Given the description of an element on the screen output the (x, y) to click on. 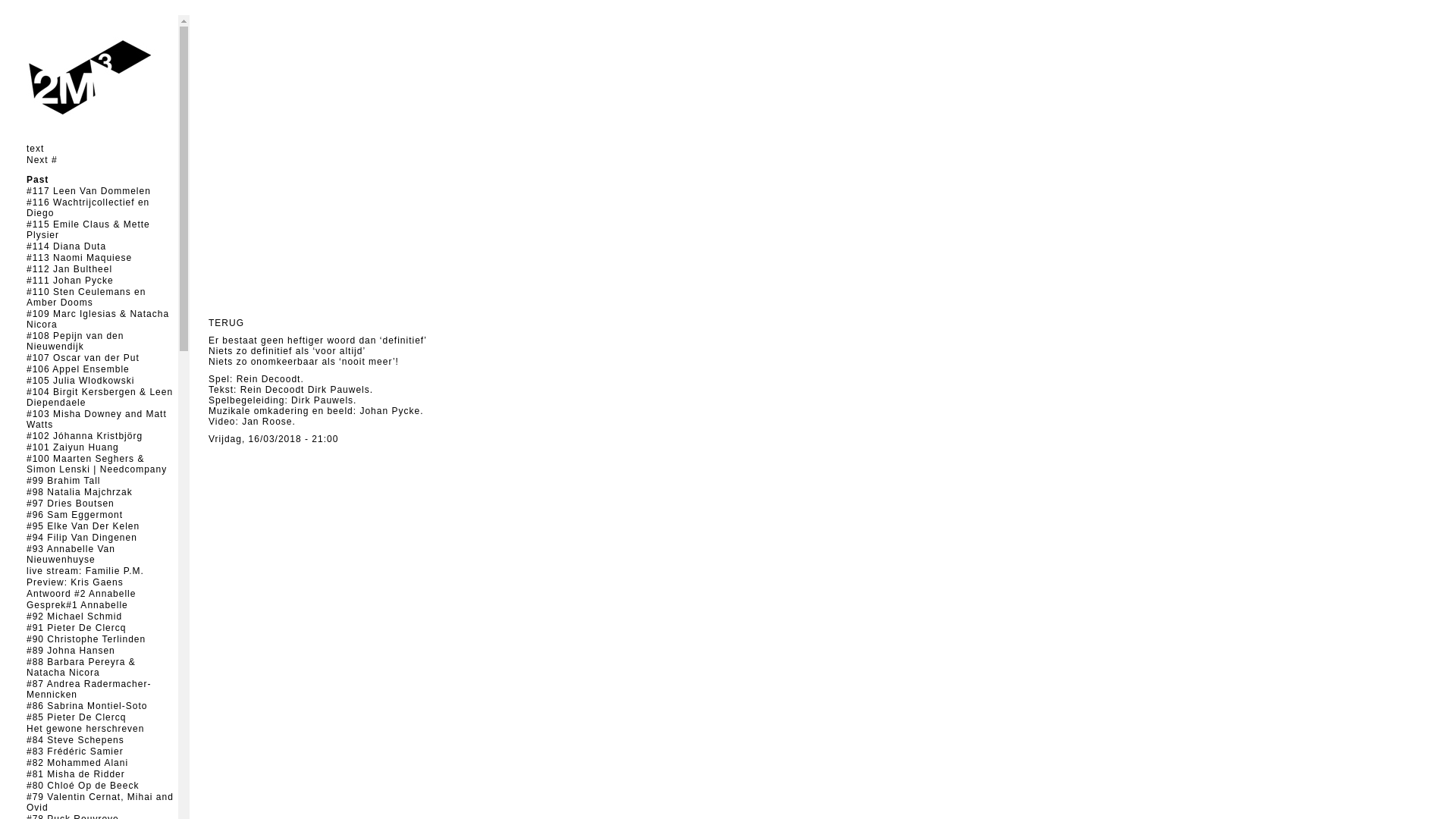
#103 Misha Downey and Matt Watts Element type: text (96, 418)
#108 Pepijn van den Nieuwendijk Element type: text (74, 340)
text Element type: text (34, 148)
#105 Julia Wlodkowski Element type: text (80, 380)
#116 Wachtrijcollectief en Diego Element type: text (87, 207)
#88 Barbara Pereyra & Natacha Nicora Element type: text (80, 666)
live stream: Familie P.M. Element type: text (85, 570)
#98 Natalia Majchrzak Element type: text (79, 491)
#117 Leen Van Dommelen Element type: text (88, 190)
#112 Jan Bultheel Element type: text (69, 268)
#89 Johna Hansen Element type: text (70, 650)
#97 Dries Boutsen Element type: text (70, 503)
#92 Michael Schmid Element type: text (74, 616)
#110 Sten Ceulemans en Amber Dooms Element type: text (85, 296)
#101 Zaiyun Huang Element type: text (72, 447)
Gesprek#1 Annabelle Element type: text (77, 604)
Next # Element type: text (41, 159)
#100 Maarten Seghers & Simon Lenski | Needcompany Element type: text (96, 463)
#82 Mohammed Alani Element type: text (77, 762)
#87 Andrea Radermacher-Mennicken Element type: text (88, 688)
#94 Filip Van Dingenen Element type: text (81, 537)
#93 Annabelle Van Nieuwenhuyse Element type: text (70, 553)
#111 Johan Pycke Element type: text (69, 280)
#86 Sabrina Montiel-Soto Element type: text (86, 705)
#114 Diana Duta Element type: text (66, 246)
#79 Valentin Cernat, Mihai and Ovid Element type: text (99, 801)
Antwoord #2 Annabelle Element type: text (80, 593)
#113 Naomi Maquiese Element type: text (78, 257)
#81 Misha de Ridder Element type: text (75, 773)
#109 Marc Iglesias & Natacha Nicora Element type: text (97, 318)
Het gewone herschreven Element type: text (85, 728)
#115 Emile Claus & Mette Plysier Element type: text (88, 229)
#99 Brahim Tall Element type: text (63, 480)
#91 Pieter De Clercq Element type: text (75, 627)
#104 Birgit Kersbergen & Leen Diependaele Element type: text (99, 396)
#95 Elke Van Der Kelen Element type: text (82, 525)
#84 Steve Schepens Element type: text (75, 739)
#90 Christophe Terlinden Element type: text (85, 638)
#96 Sam Eggermont Element type: text (74, 514)
Preview: Kris Gaens Element type: text (74, 582)
#106 Appel Ensemble Element type: text (77, 369)
#85 Pieter De Clercq Element type: text (75, 717)
#107 Oscar van der Put Element type: text (82, 357)
